Given the description of an element on the screen output the (x, y) to click on. 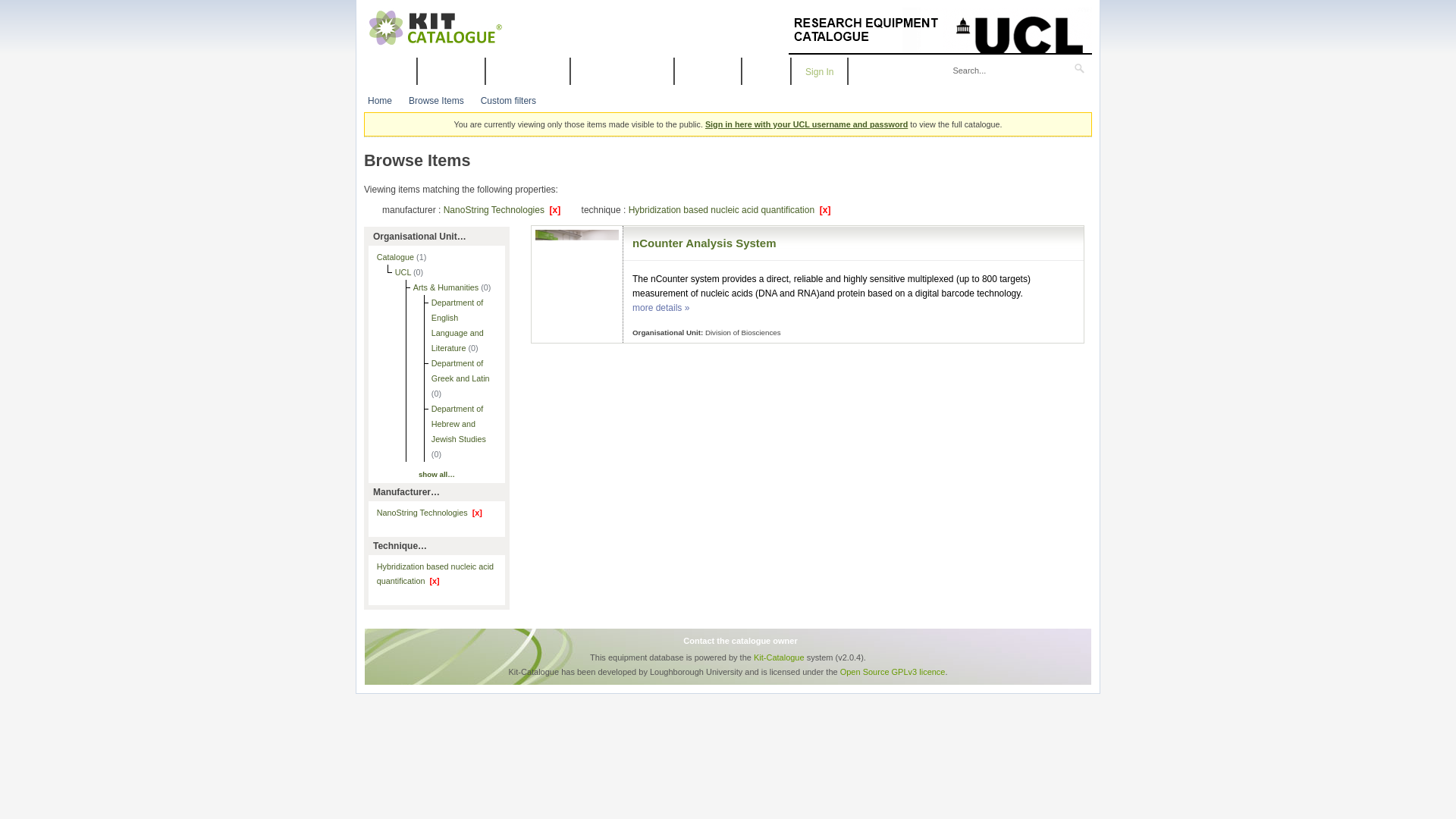
Catalogue (396, 256)
Sign in here with your UCL username and password (805, 123)
Home (379, 100)
Manufacturer A-Z (621, 71)
Department of Hebrew and Jewish Studies (458, 423)
Home (390, 71)
Tags (766, 71)
Category (450, 71)
Custom filters (507, 100)
Facilities (708, 71)
